Given the description of an element on the screen output the (x, y) to click on. 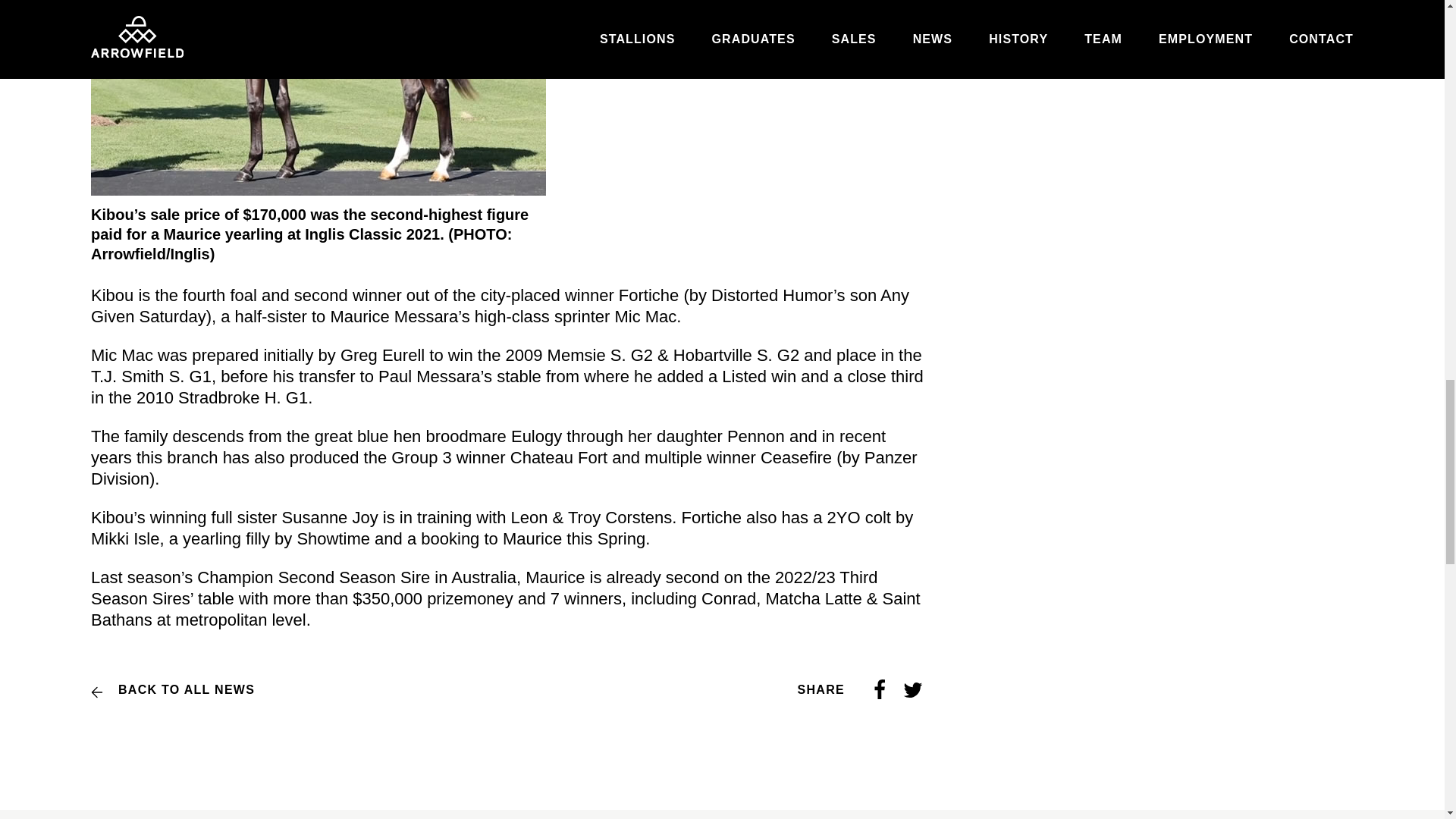
BACK TO ALL NEWS (172, 689)
